Given the description of an element on the screen output the (x, y) to click on. 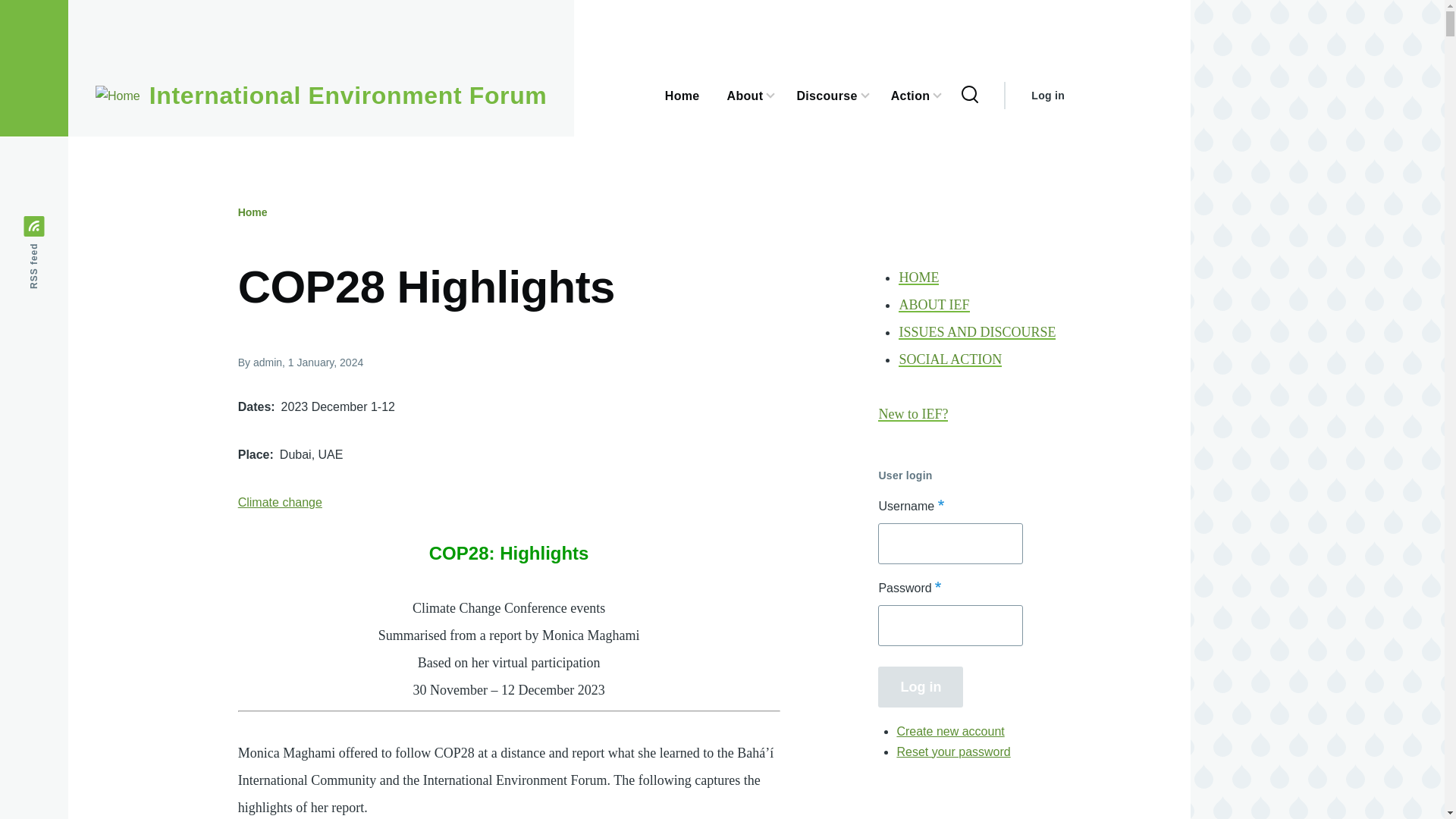
Home (252, 212)
Log in (1047, 94)
Send password reset instructions via email. (953, 750)
Log in (919, 685)
Home (348, 94)
Climate change (279, 502)
Skip to main content (595, 6)
Create a new user account. (950, 730)
International Environment Forum (348, 94)
